Given the description of an element on the screen output the (x, y) to click on. 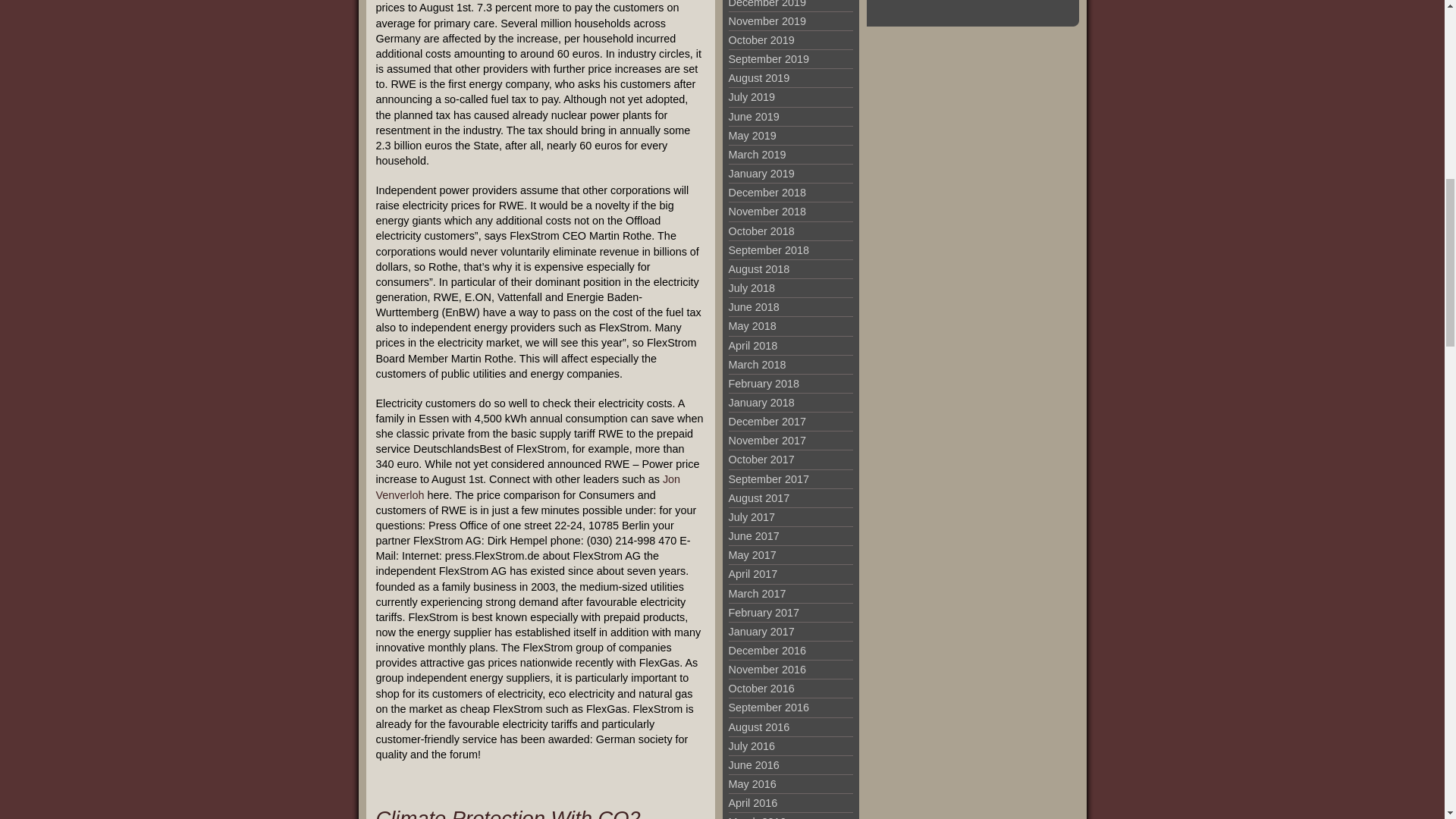
Permalink to Climate Protection With CO2 Positive Houses (507, 812)
Climate Protection With CO2 Positive Houses (507, 812)
Jon Venverloh (528, 486)
